Given the description of an element on the screen output the (x, y) to click on. 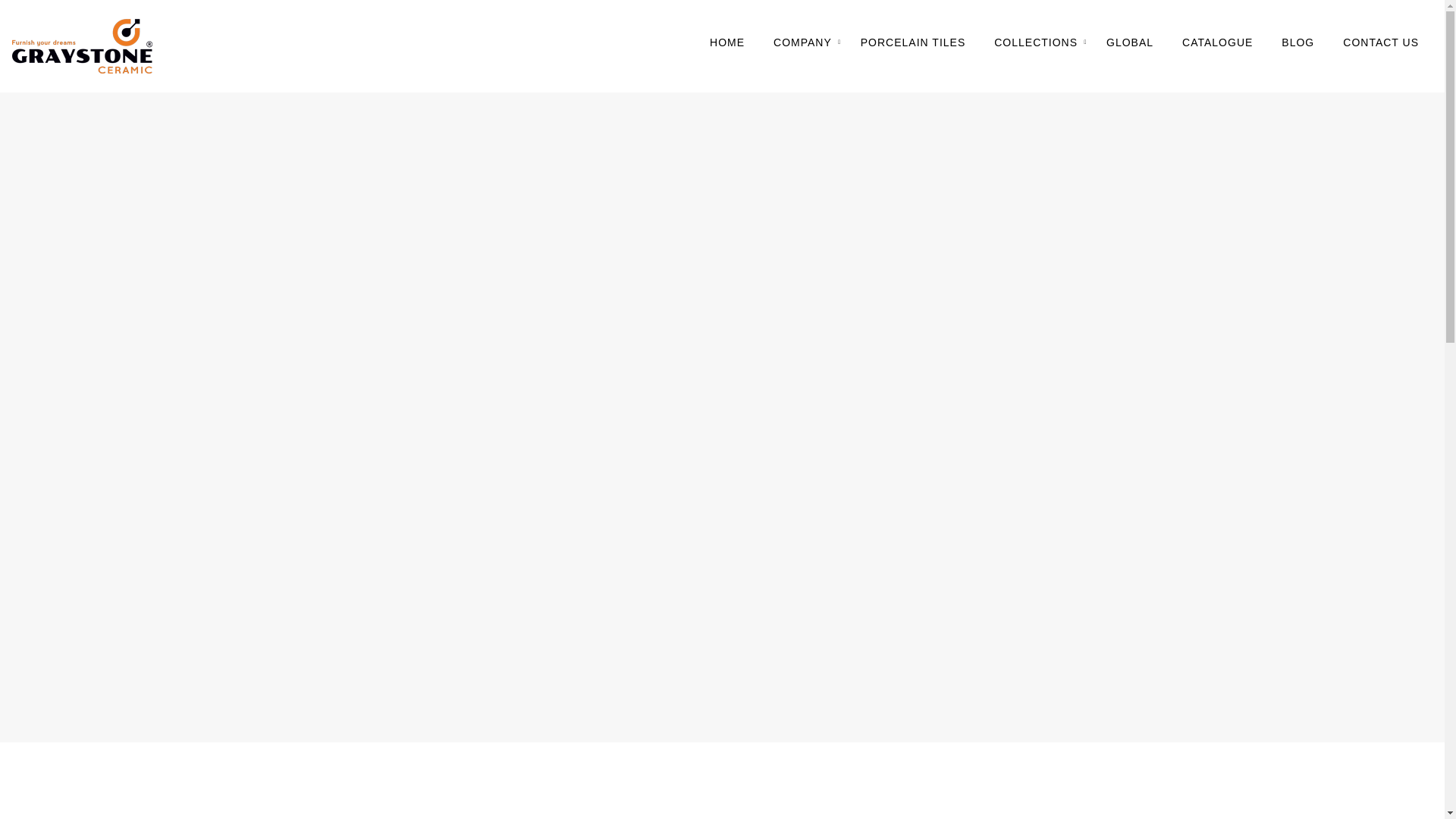
BLOG (1297, 42)
HOME (727, 42)
GLOBAL (1129, 42)
COLLECTIONS (1035, 42)
PORCELAIN TILES (912, 42)
CONTACT US (1380, 42)
Graystone Ceramic (83, 46)
COMPANY (802, 42)
CATALOGUE (1217, 42)
